Given the description of an element on the screen output the (x, y) to click on. 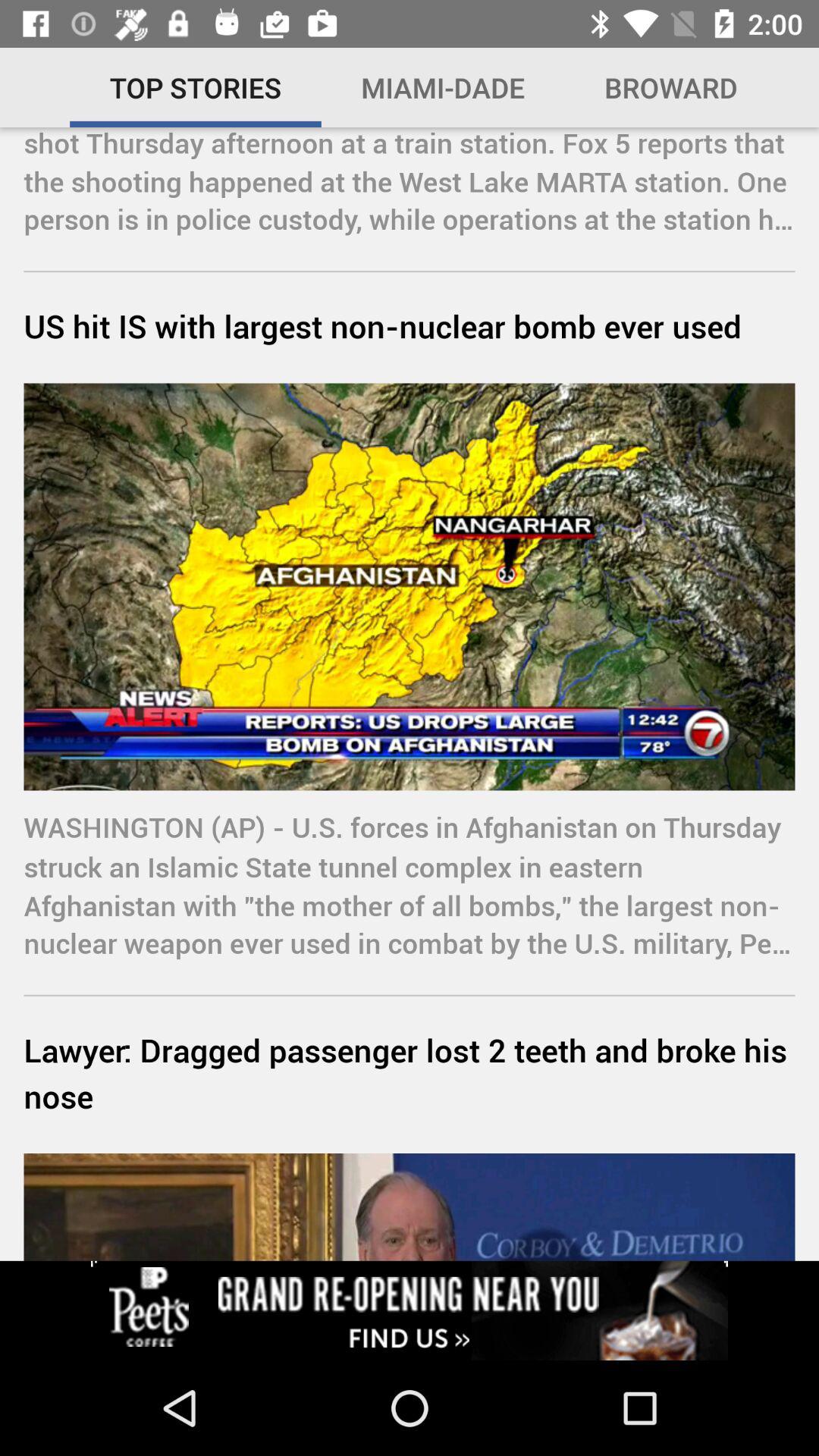
open advertisement (409, 1310)
